Given the description of an element on the screen output the (x, y) to click on. 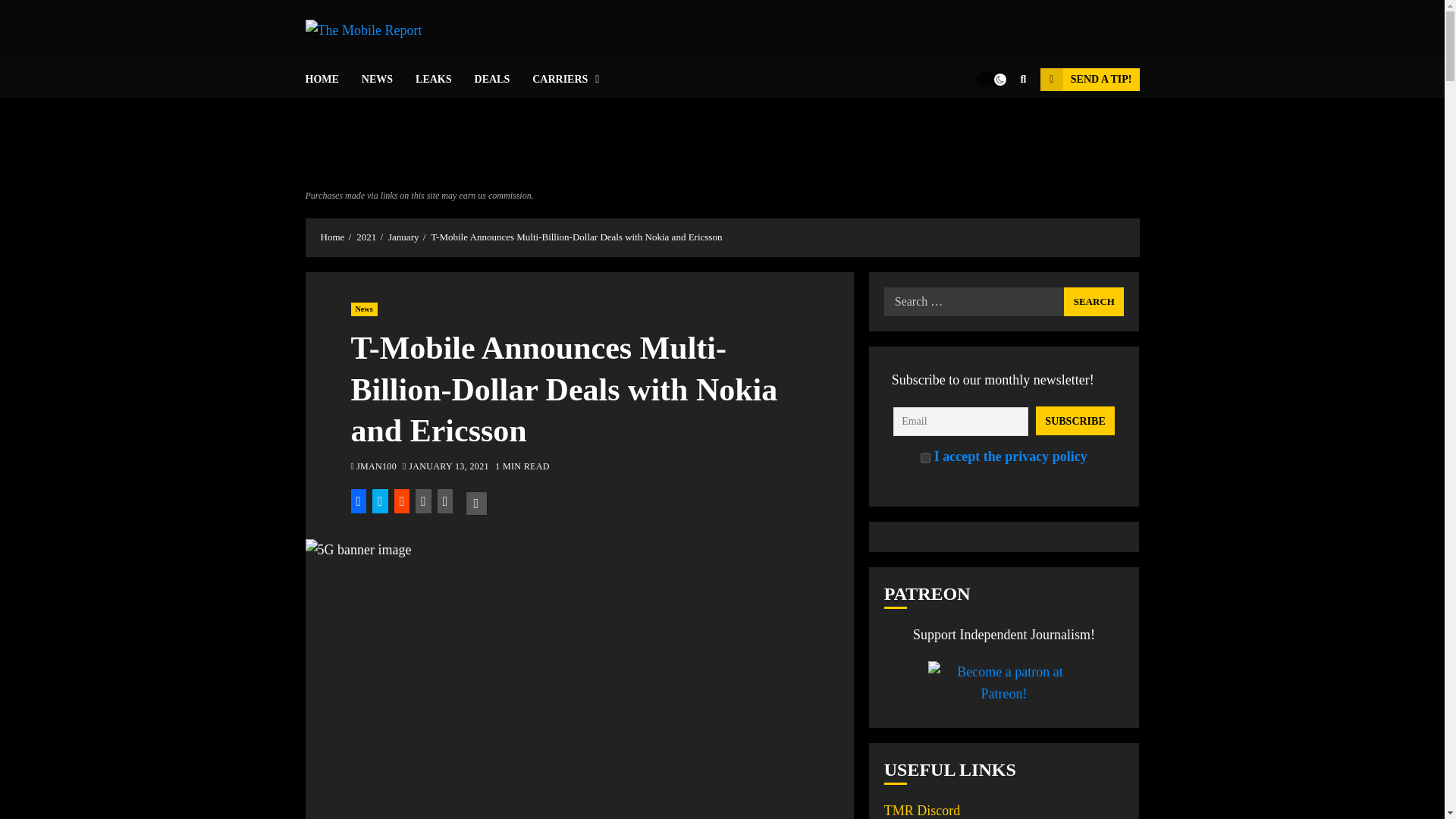
LEAKS (444, 78)
2021 (365, 236)
Subscribe (1075, 420)
News (363, 309)
Search (1094, 301)
CARRIERS (565, 78)
Search (994, 124)
Search (1094, 301)
